Given the description of an element on the screen output the (x, y) to click on. 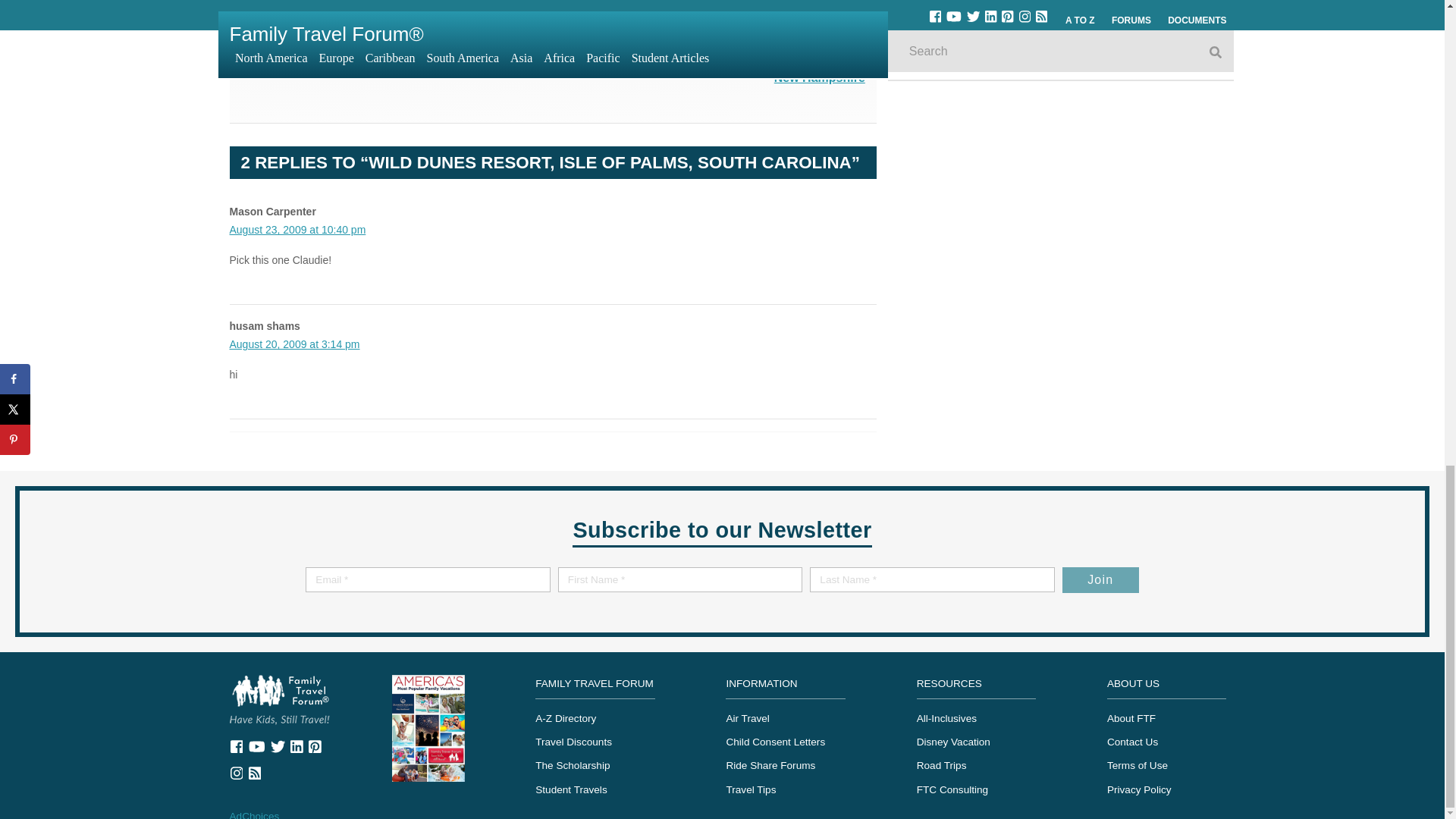
Join (1100, 579)
My Family Travels (279, 699)
August 23, 2009 at 10:40 pm (296, 229)
August 20, 2009 at 3:14 pm (293, 344)
America's Most Popular Family Vacations (427, 727)
